Given the description of an element on the screen output the (x, y) to click on. 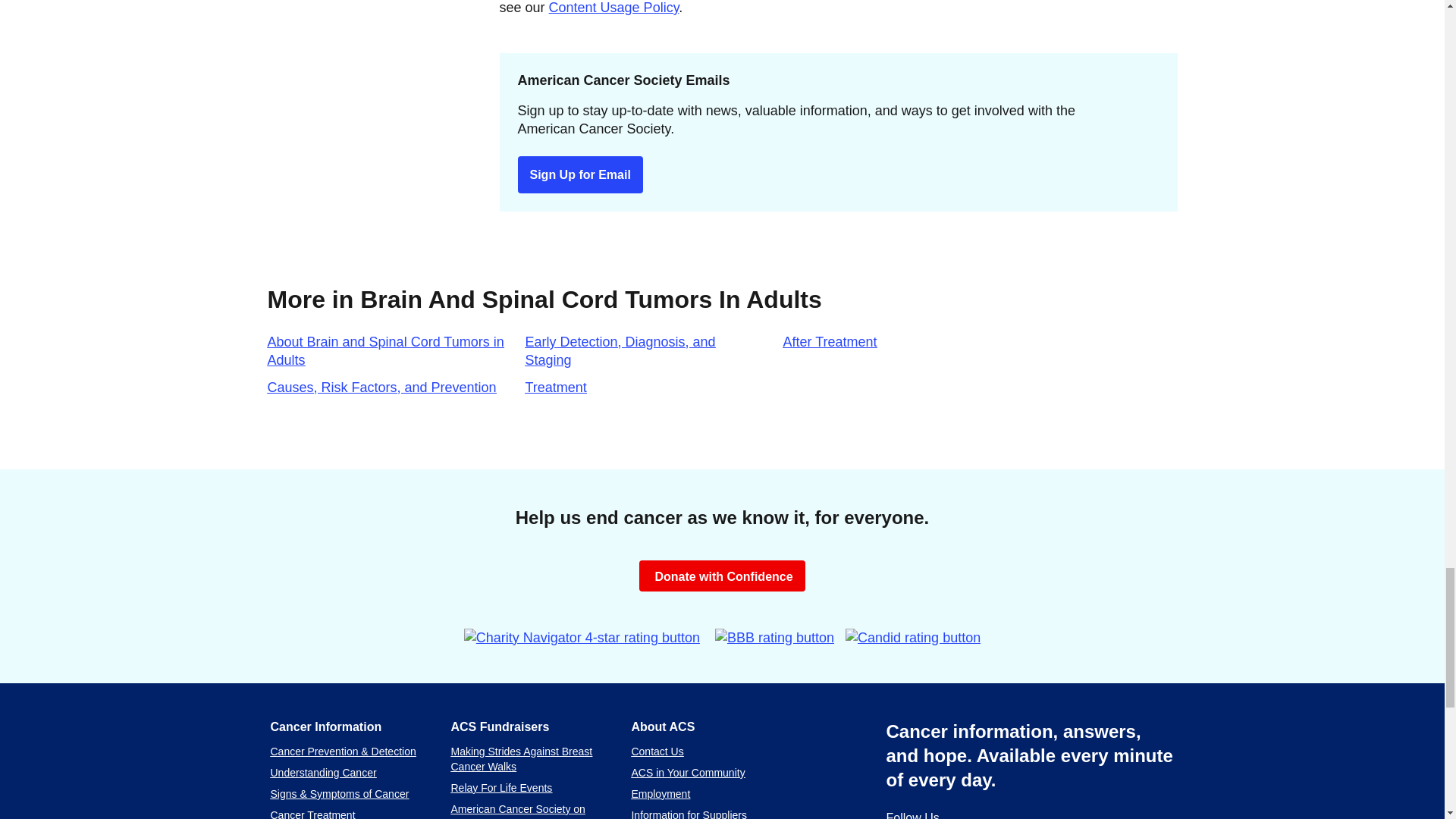
Early Detection, Diagnosis, and Staging (619, 350)
After Treatment (829, 341)
Understanding Cancer (322, 772)
About Brain and Spinal Cord Tumors in Adults (384, 350)
Treatment (555, 387)
Causes, Risk Factors, and Prevention (381, 387)
Cancer Treatment (312, 814)
